Given the description of an element on the screen output the (x, y) to click on. 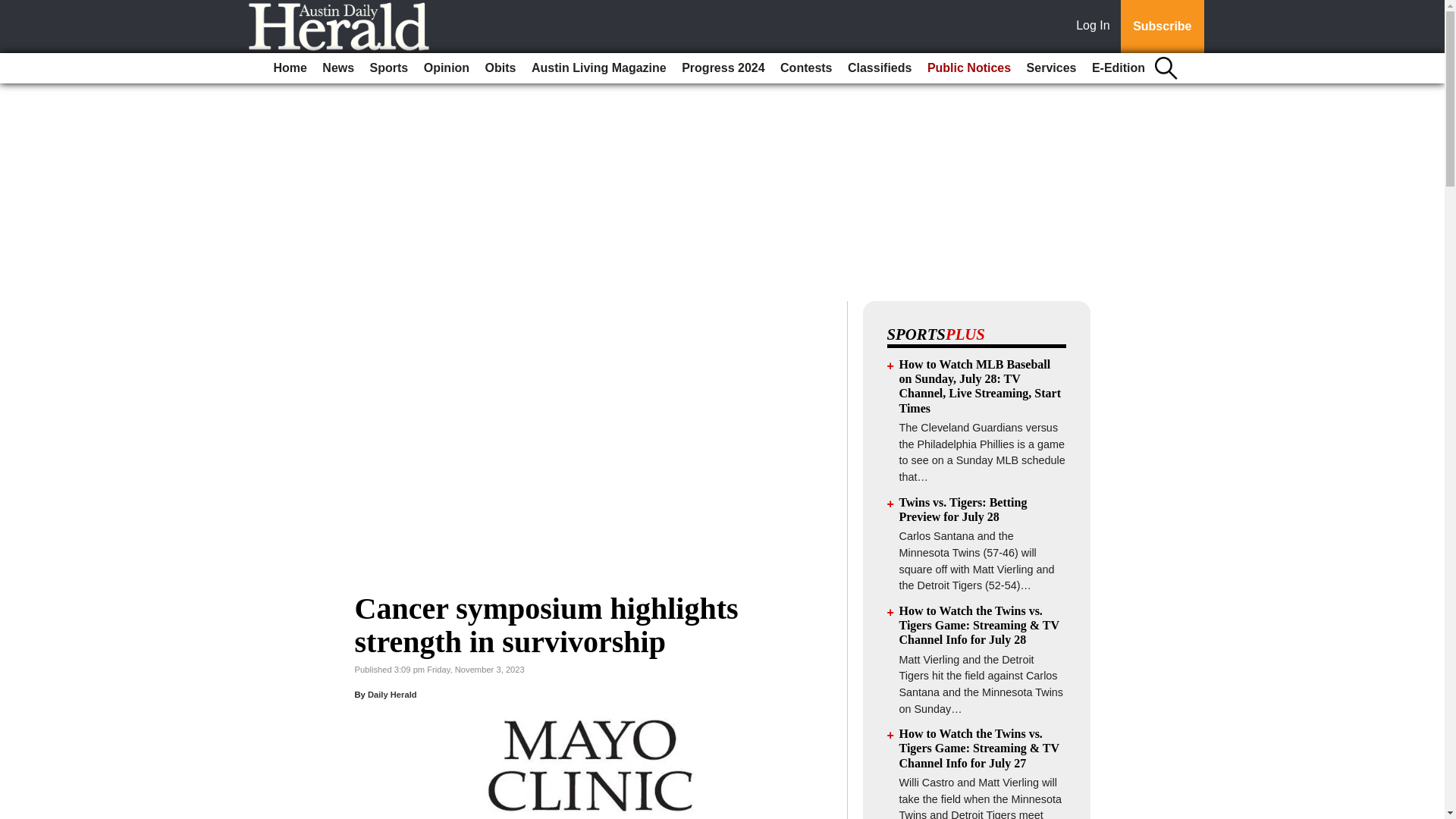
Progress 2024 (722, 68)
Contests (806, 68)
Opinion (446, 68)
Subscribe (1162, 26)
Services (1051, 68)
News (337, 68)
Classifieds (879, 68)
Obits (500, 68)
Public Notices (968, 68)
Austin Living Magazine (598, 68)
Home (289, 68)
Sports (389, 68)
Log In (1095, 26)
